Given the description of an element on the screen output the (x, y) to click on. 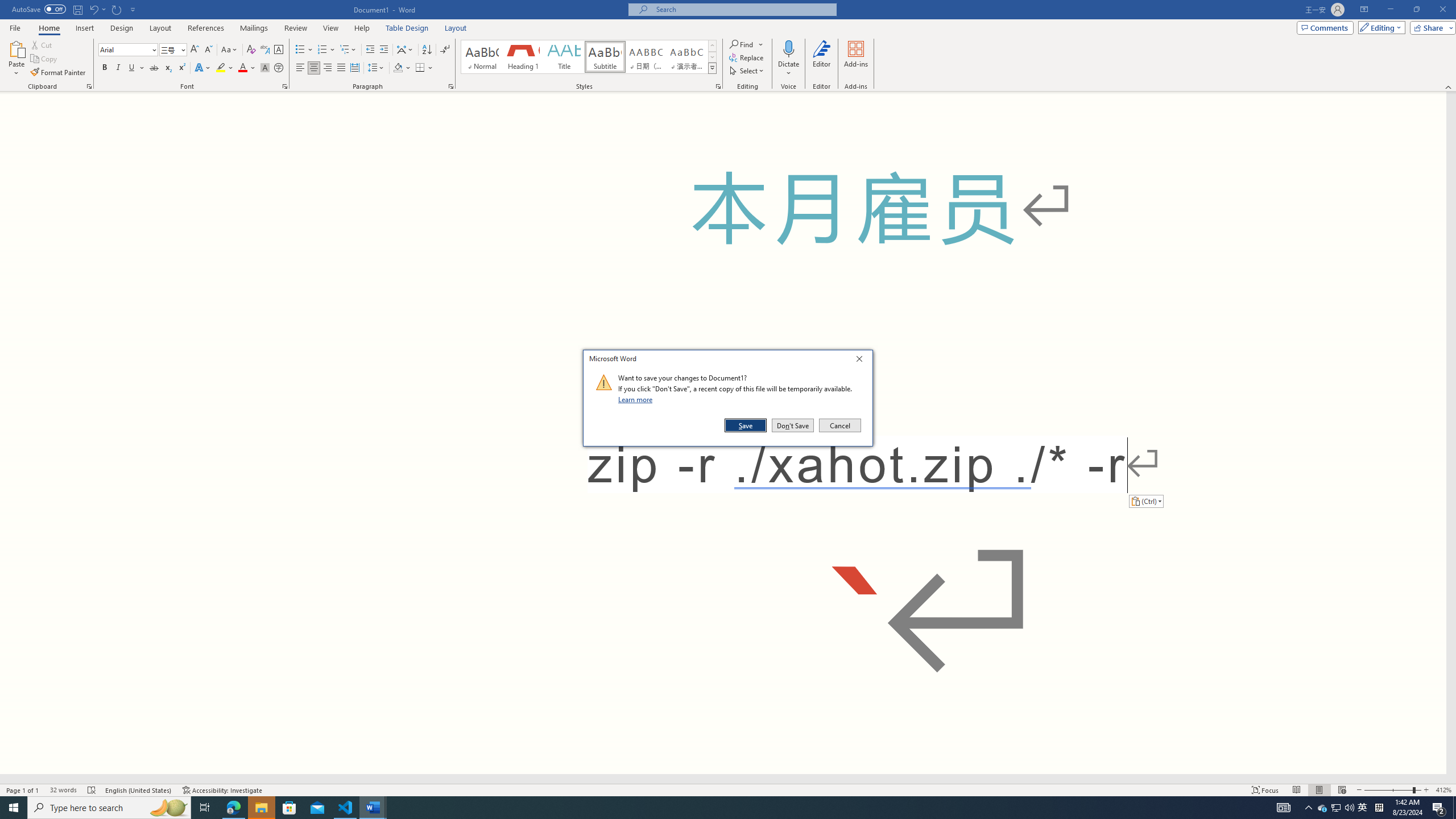
Editor (821, 58)
Customize Quick Access Toolbar (133, 9)
Replace... (747, 56)
Select (747, 69)
Insert (83, 28)
Task View (204, 807)
Paragraph... (450, 85)
Page Number Page 1 of 1 (22, 790)
Class: MsoCommandBar (728, 45)
Action: Paste alternatives (1145, 500)
Learn more (636, 399)
